Given the description of an element on the screen output the (x, y) to click on. 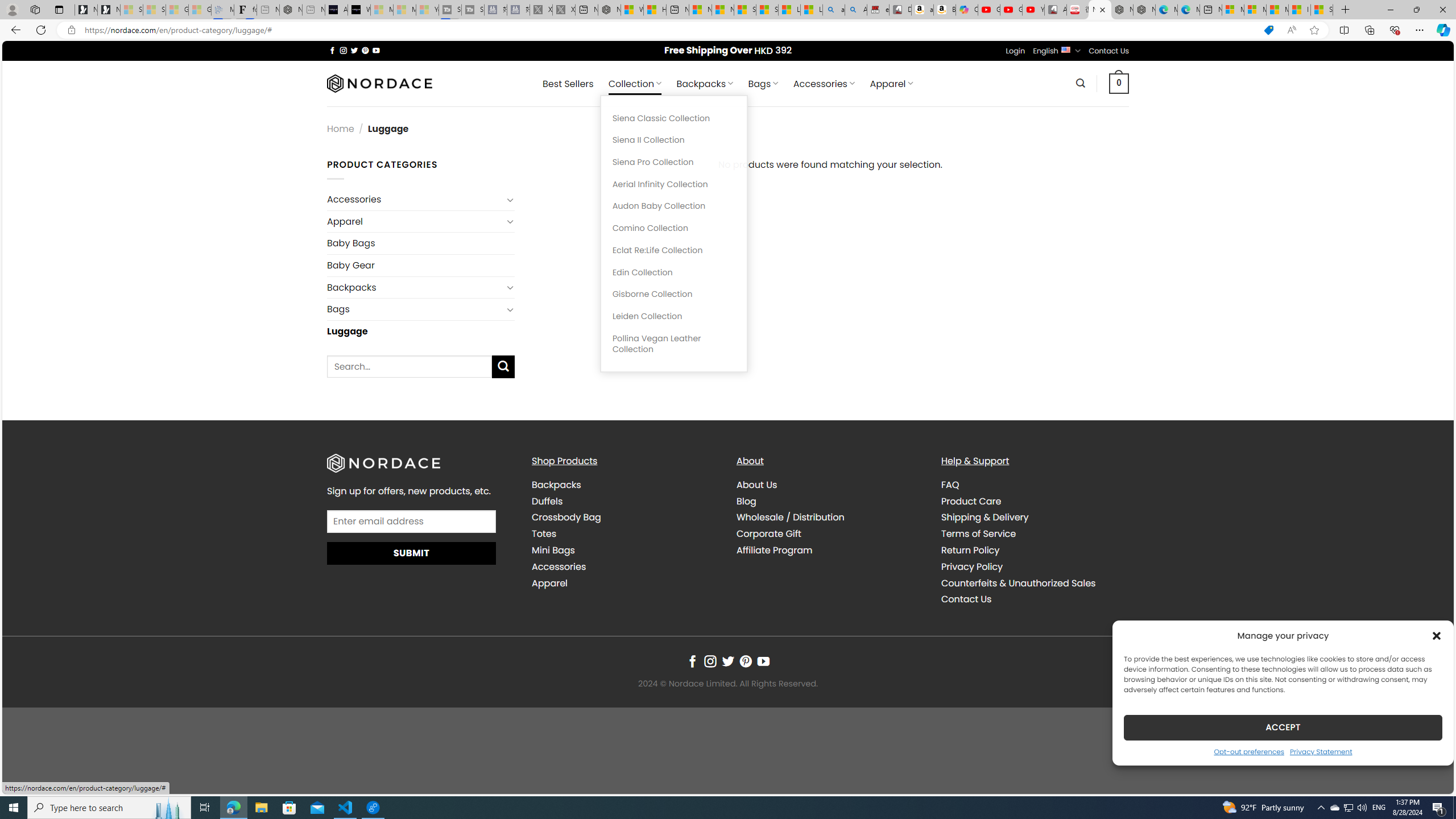
Search for: (409, 366)
Microsoft account | Privacy (1255, 9)
Nordace - My Account (609, 9)
Home (340, 128)
Product Care (970, 500)
New Tab (1346, 9)
Edin Collection (672, 272)
Edin Collection (672, 272)
Luggage (421, 331)
Contact Us (965, 599)
Close (1442, 9)
Follow on Pinterest (745, 661)
